Given the description of an element on the screen output the (x, y) to click on. 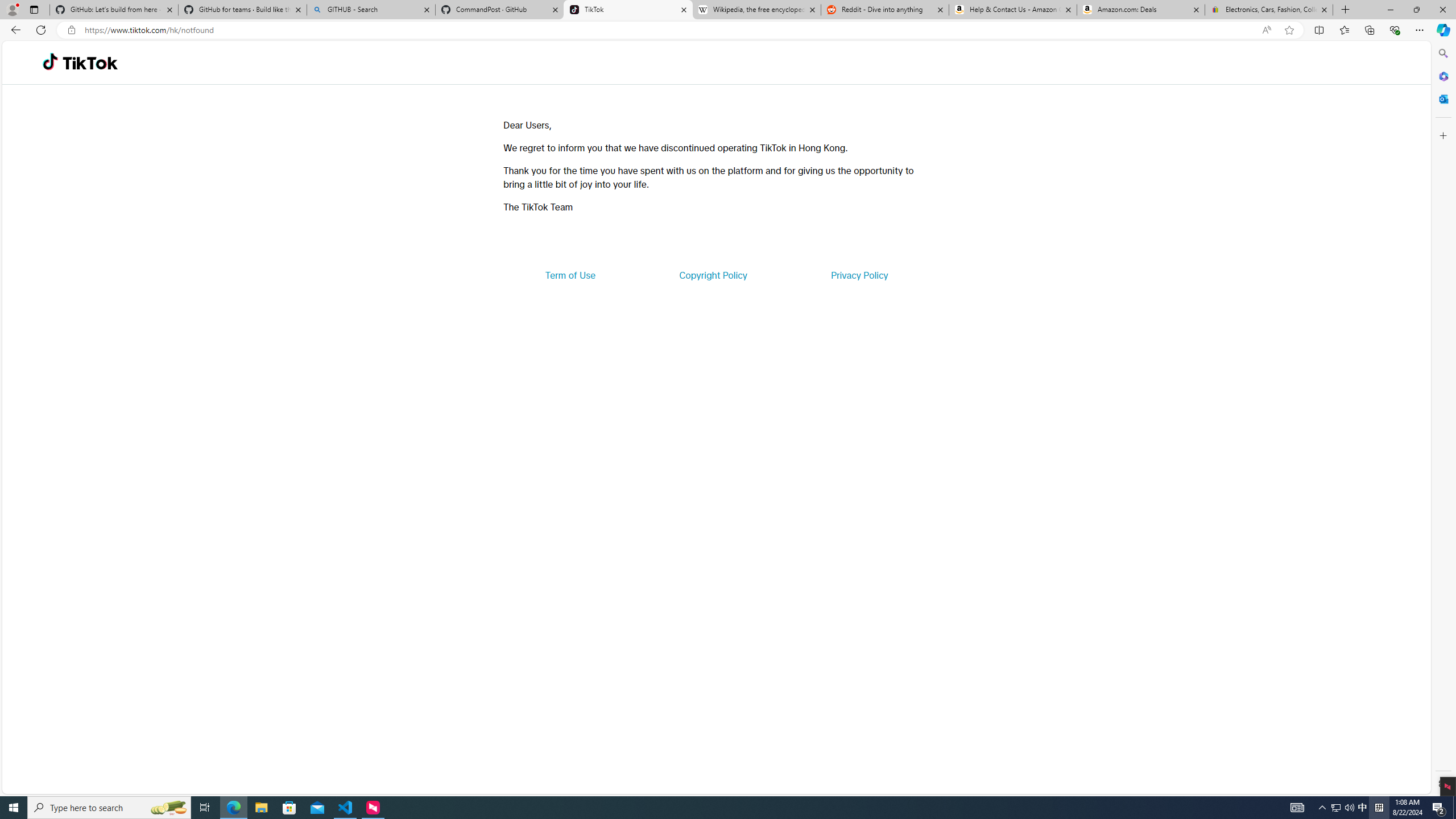
Copyright Policy (712, 274)
Privacy Policy (858, 274)
